Given the description of an element on the screen output the (x, y) to click on. 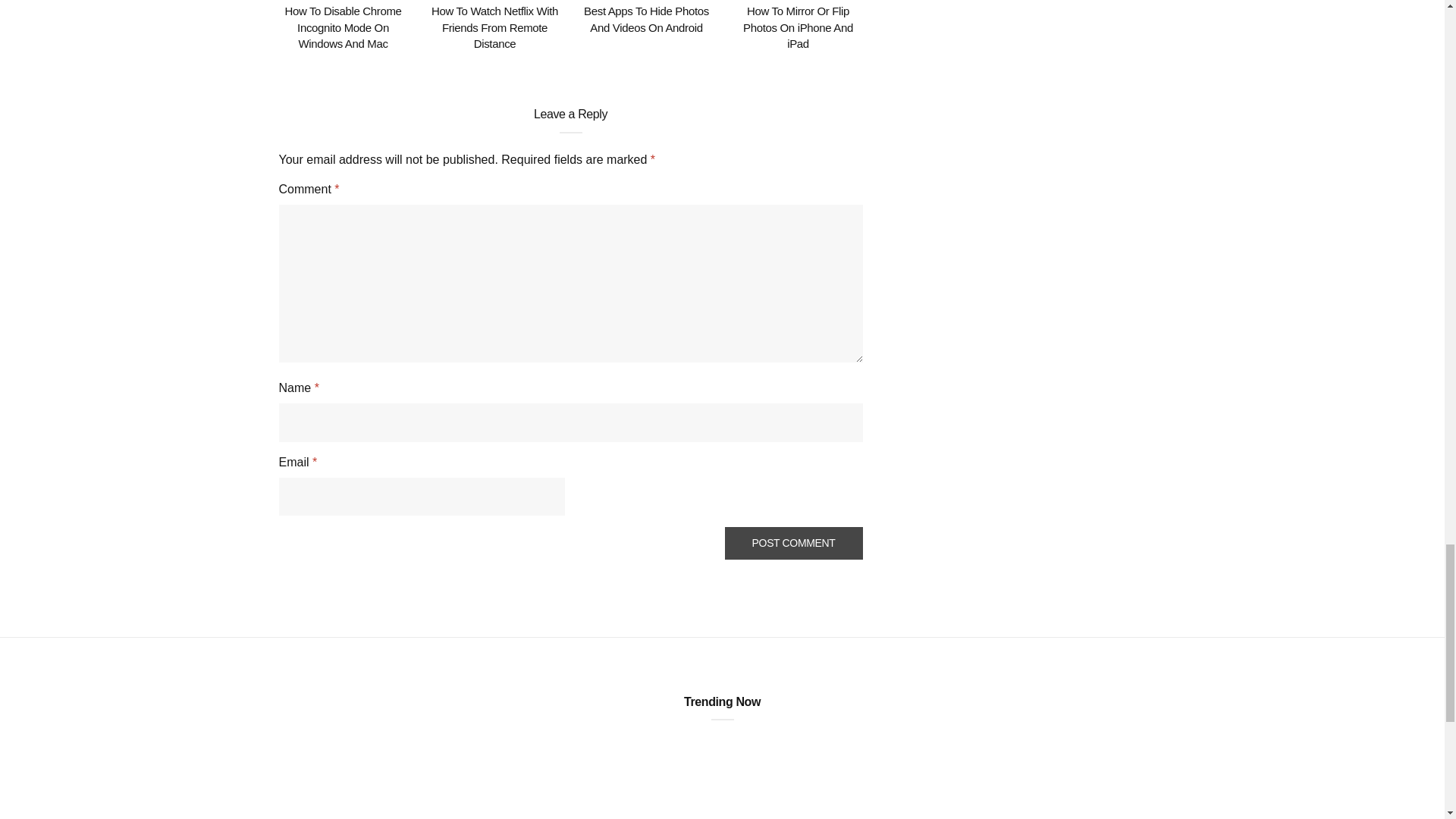
Post Comment (794, 543)
